Given the description of an element on the screen output the (x, y) to click on. 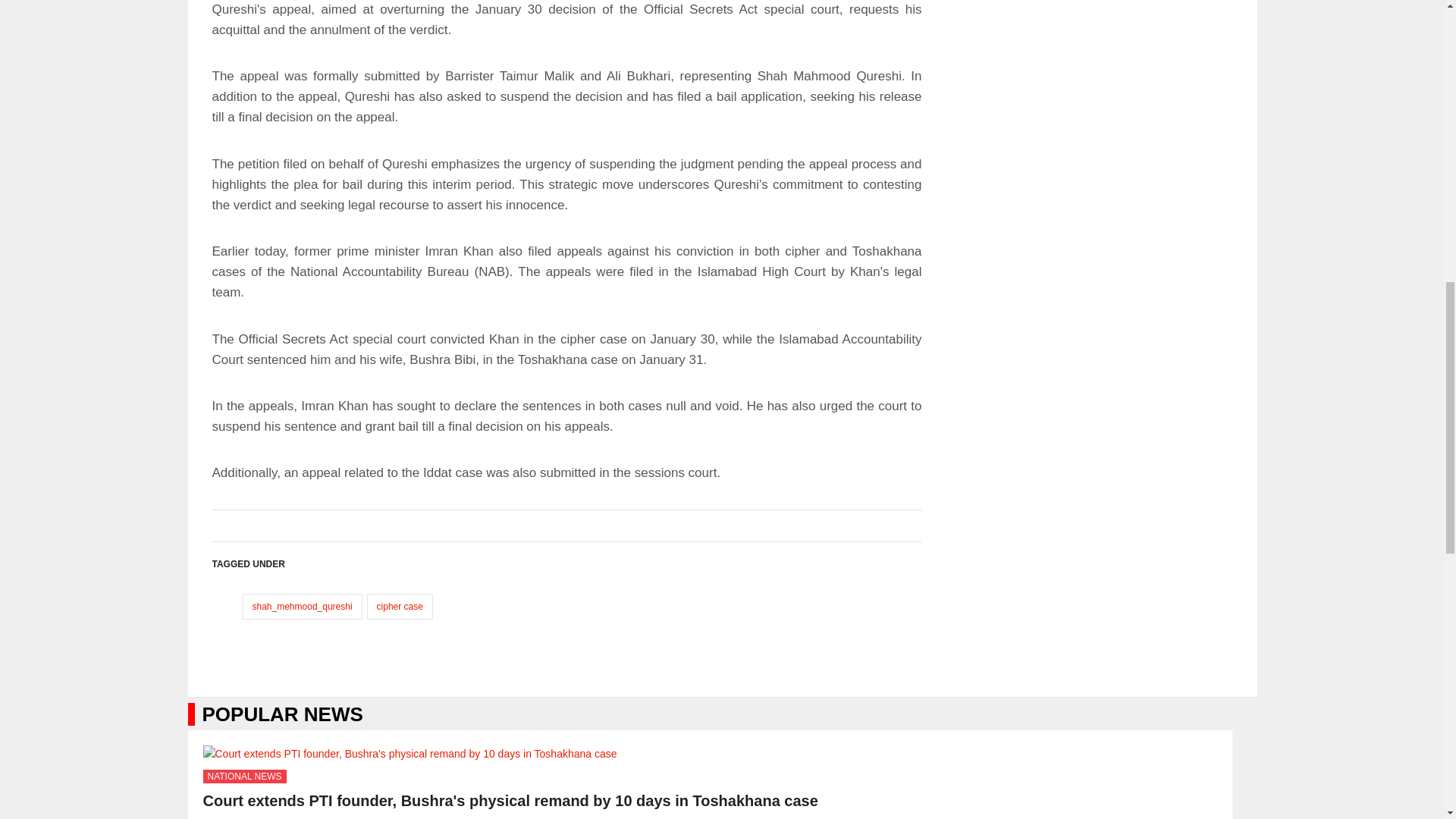
Advertisement (566, 65)
Advertisement (566, 743)
